Given the description of an element on the screen output the (x, y) to click on. 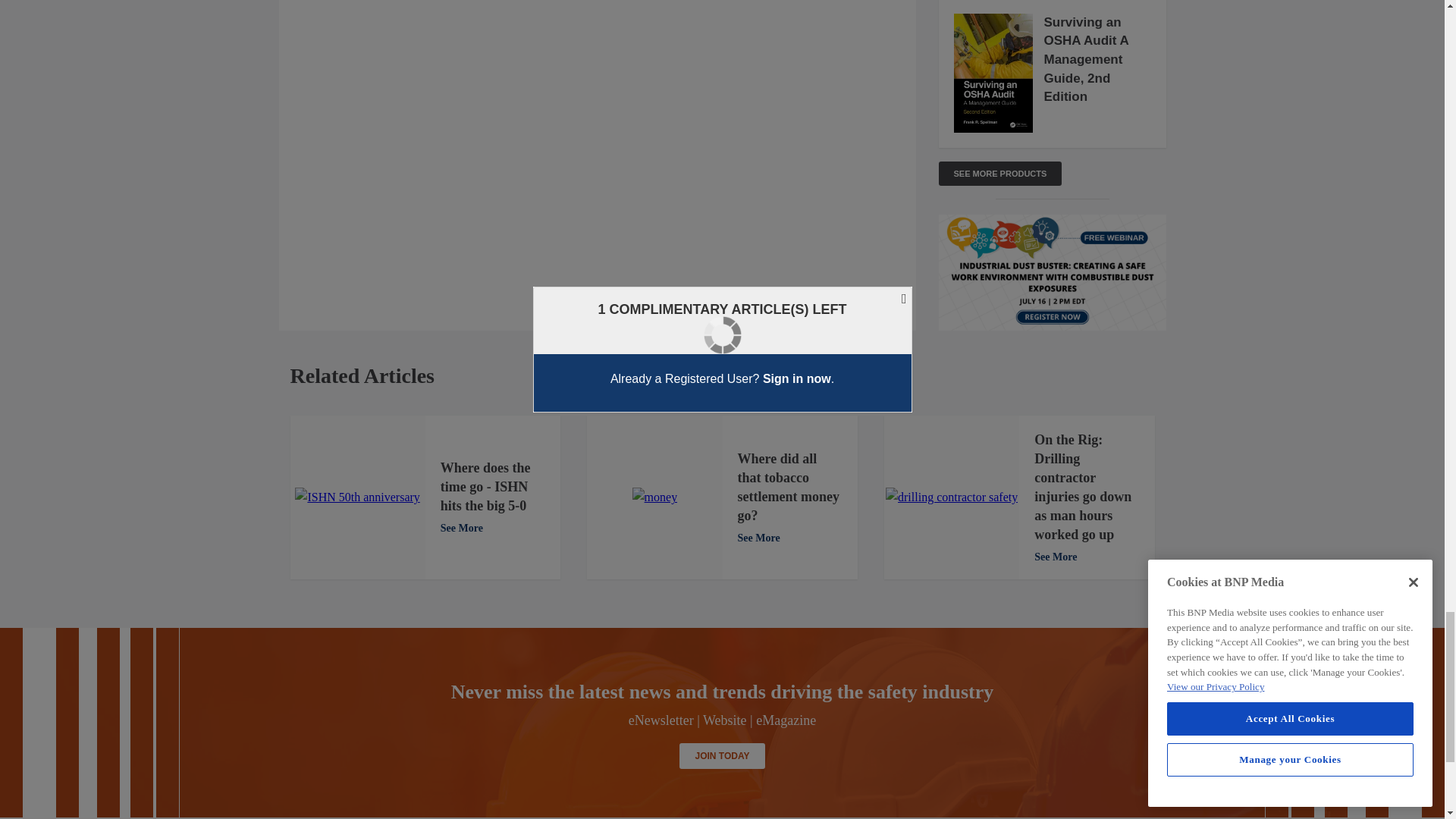
money-900.png (654, 496)
ISHN 50th anniversary (357, 496)
drilling contractor safety (951, 496)
